Given the description of an element on the screen output the (x, y) to click on. 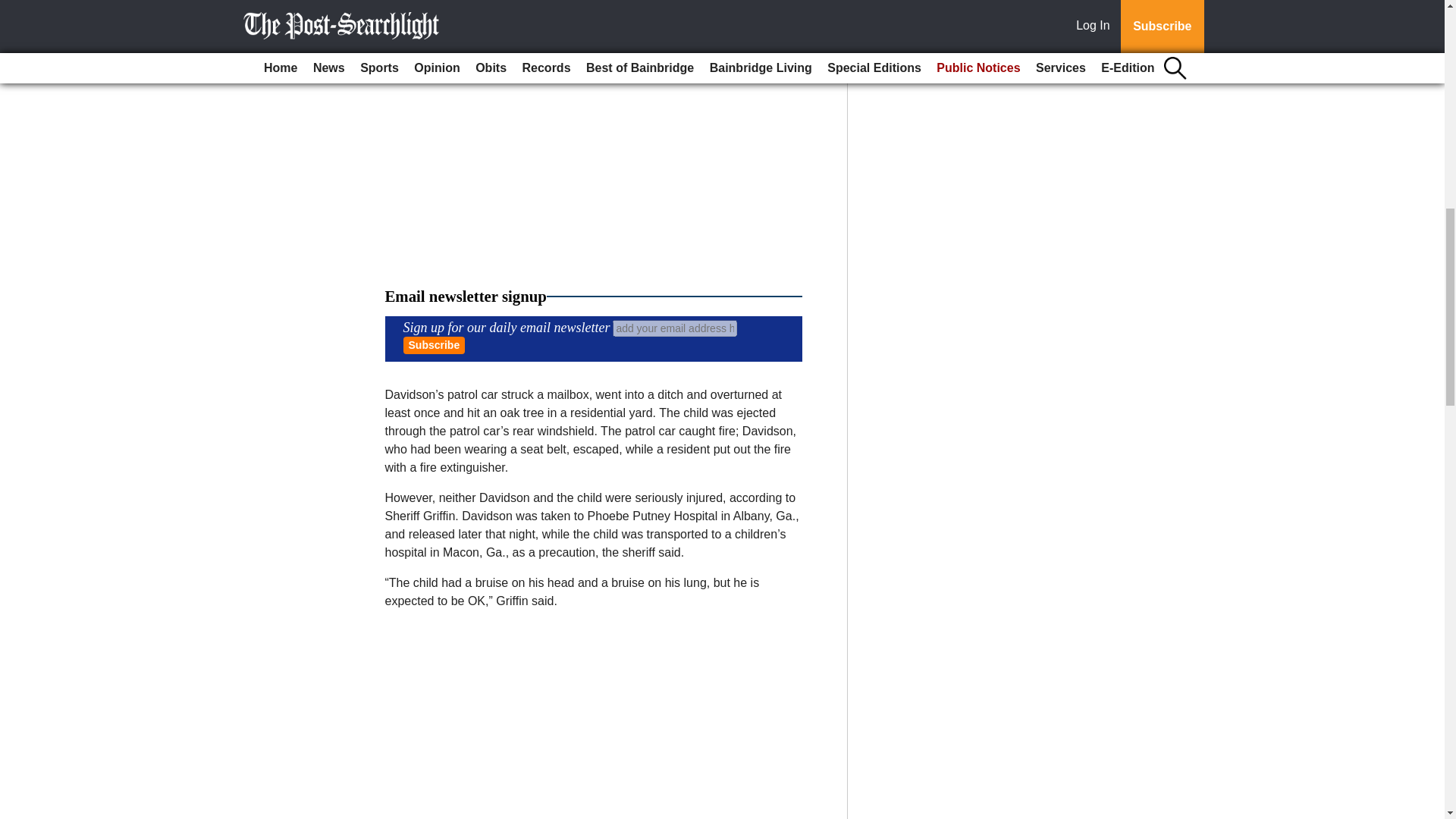
Subscribe (434, 344)
Subscribe (434, 344)
